Given the description of an element on the screen output the (x, y) to click on. 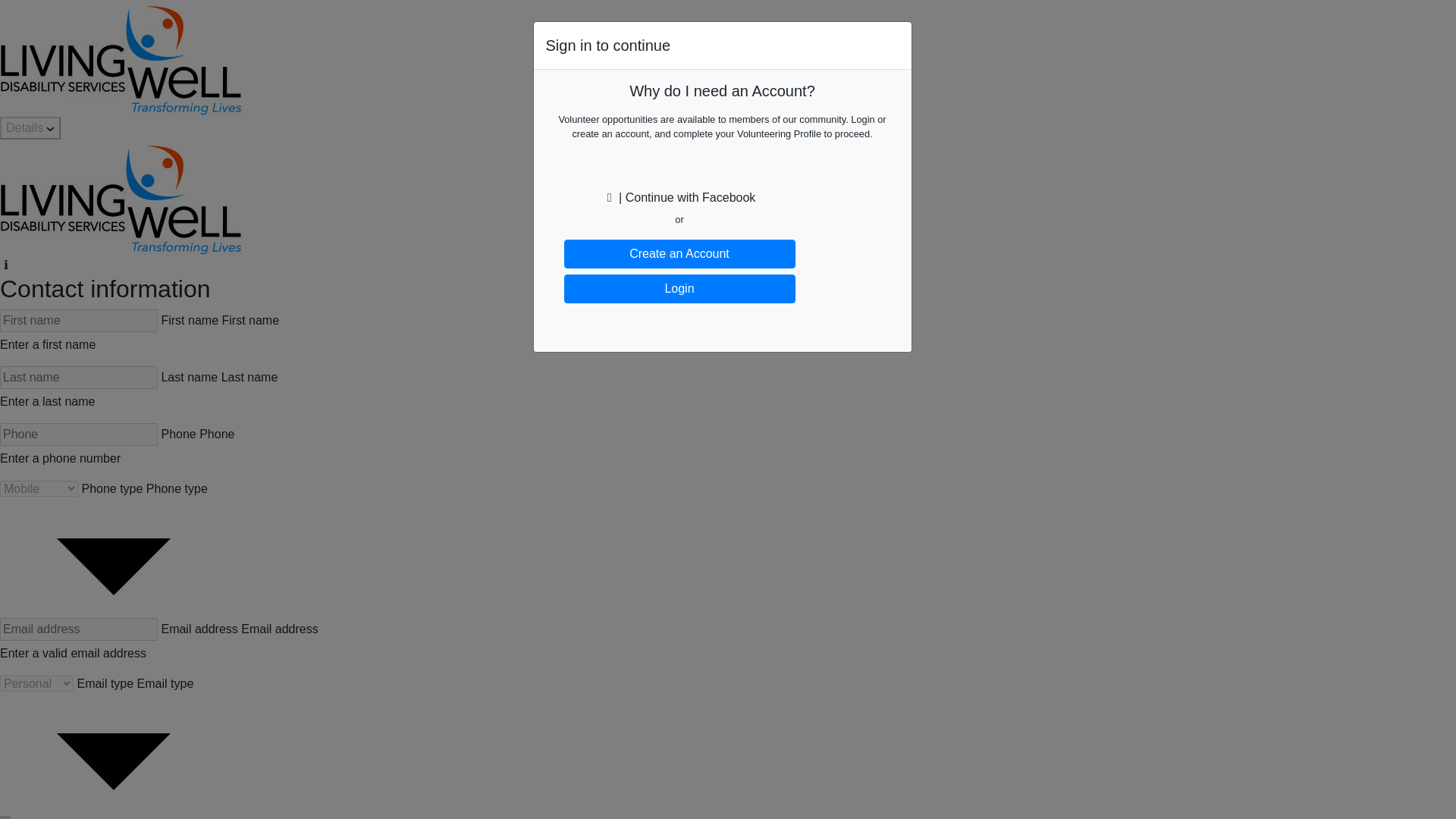
1 (5, 817)
Login (679, 288)
Create an Account (679, 253)
Details (30, 128)
